Given the description of an element on the screen output the (x, y) to click on. 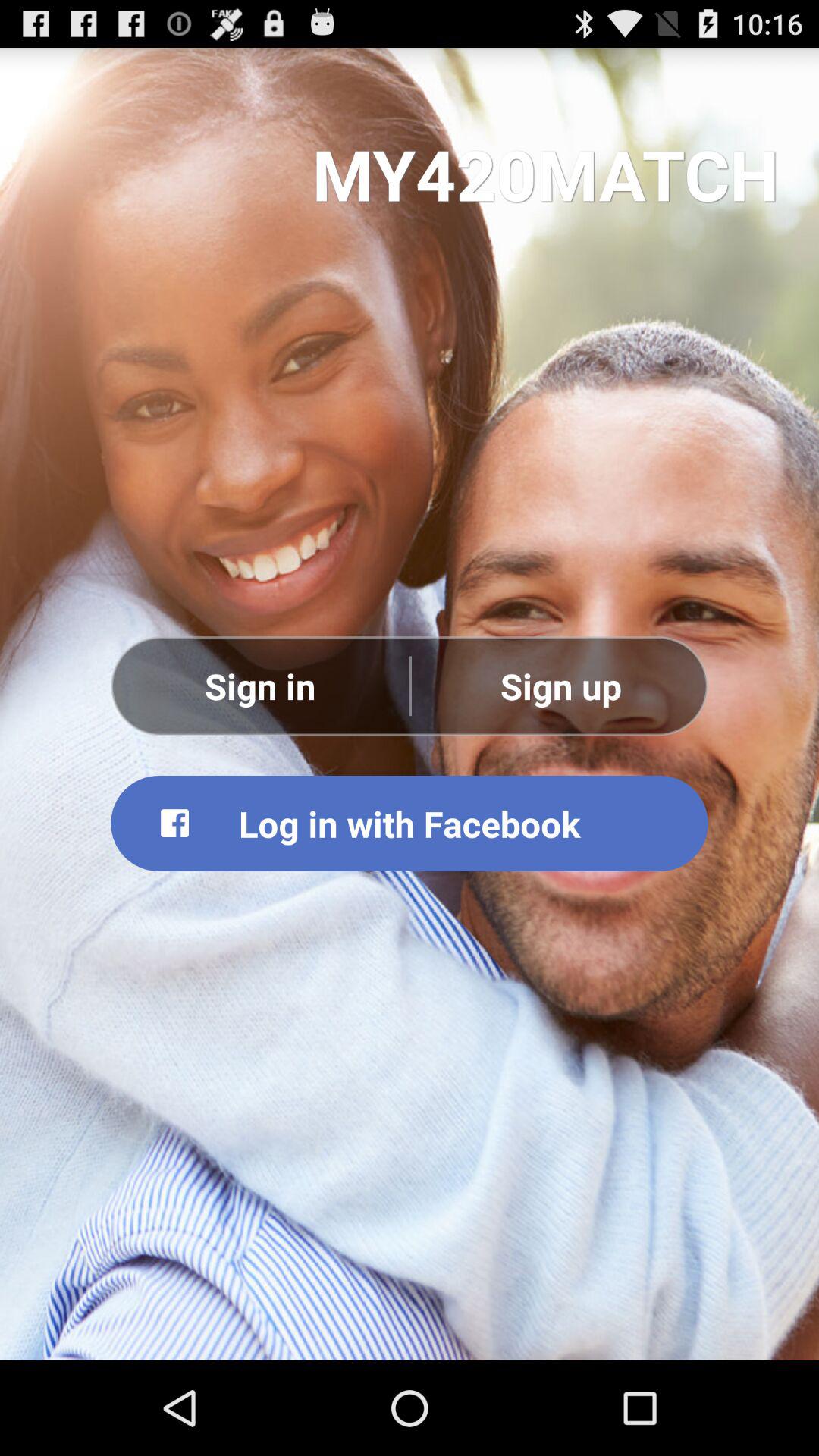
turn on the sign up item (559, 685)
